Given the description of an element on the screen output the (x, y) to click on. 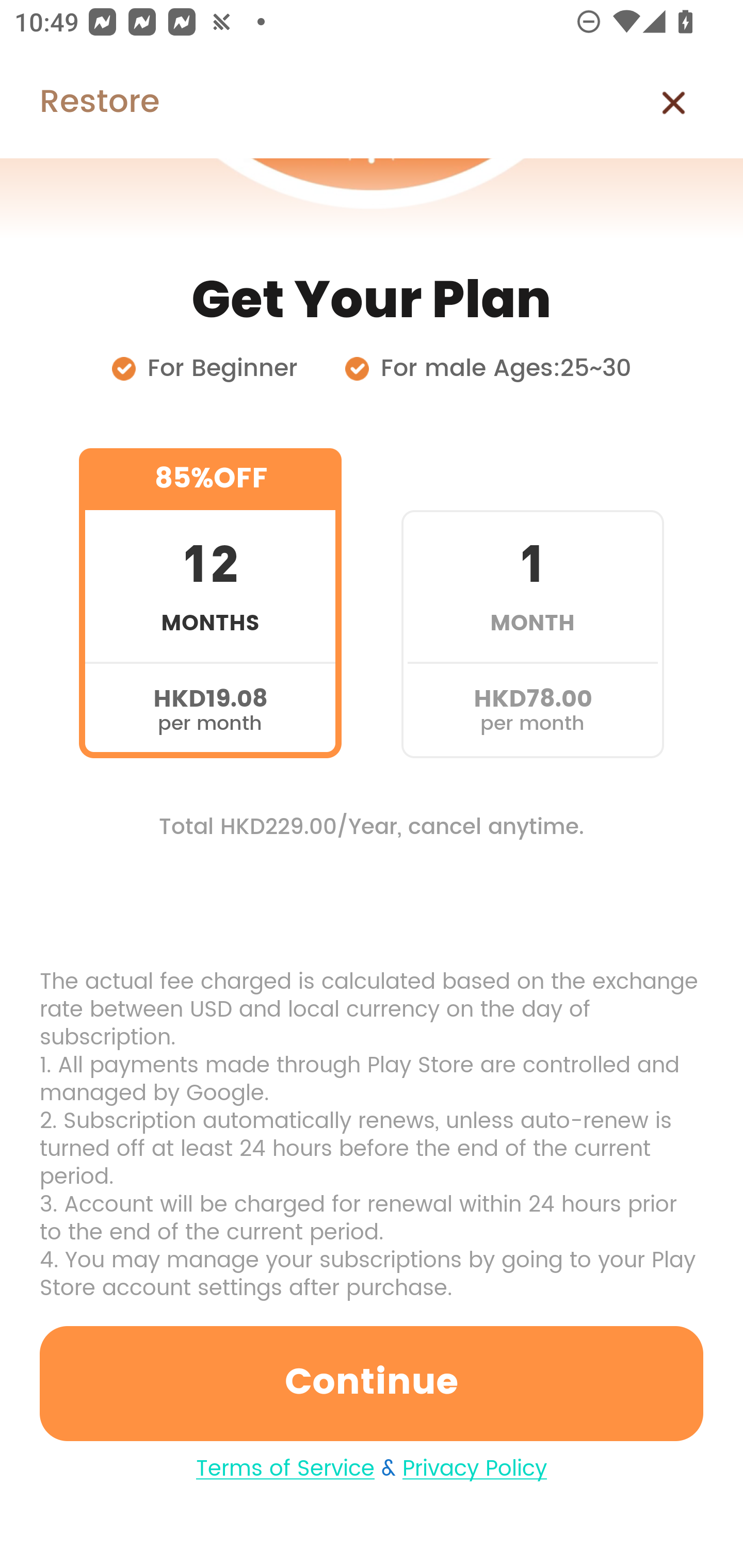
Restore (79, 102)
85%OFF 12 MONTHS per month HKD19.08 (209, 603)
1 MONTH per month HKD78.00 (532, 603)
Continue (371, 1383)
